Given the description of an element on the screen output the (x, y) to click on. 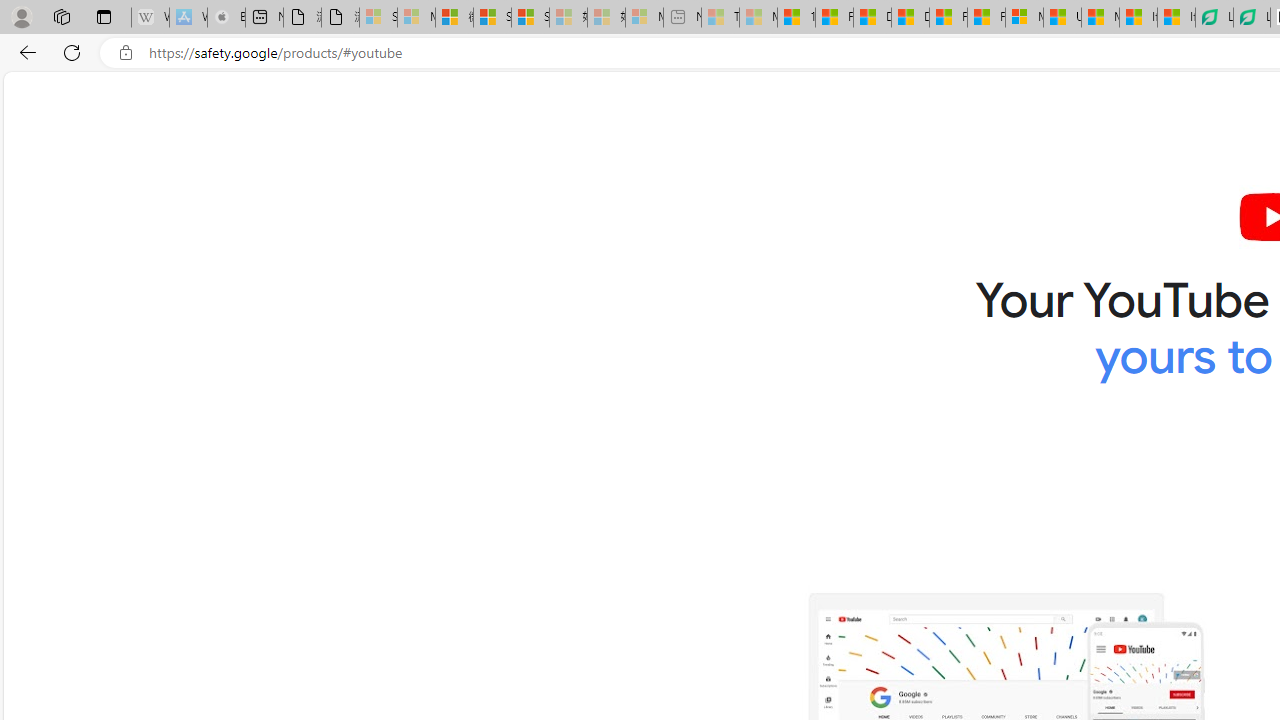
Sign in to your Microsoft account - Sleeping (377, 17)
Marine life - MSN - Sleeping (757, 17)
Microsoft account | Account Checkup - Sleeping (644, 17)
Microsoft Services Agreement - Sleeping (416, 17)
LendingTree - Compare Lenders (1251, 17)
Food and Drink - MSN (833, 17)
